Given the description of an element on the screen output the (x, y) to click on. 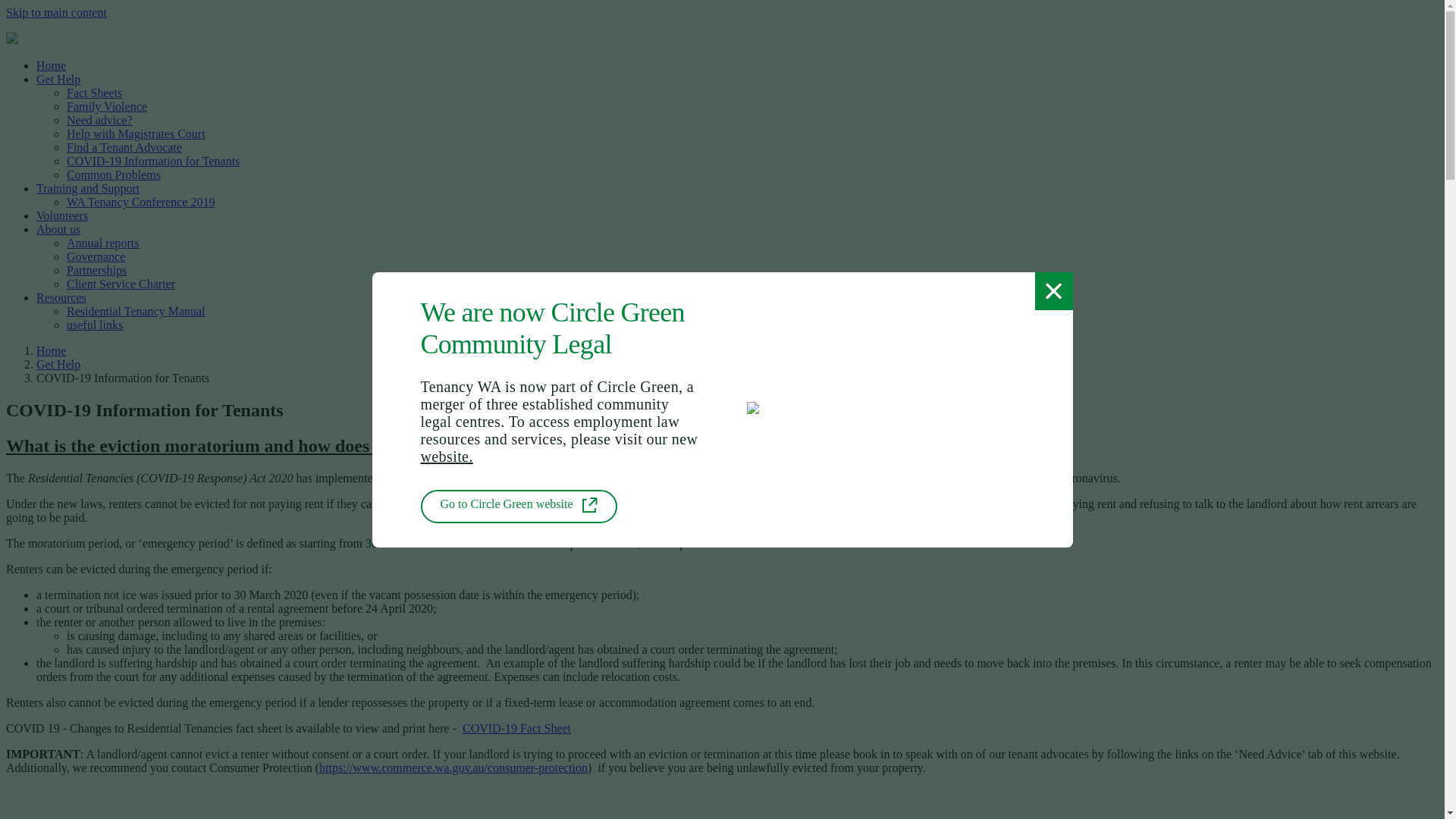
Residential Tenancy Manual Element type: text (135, 310)
Fact Sheets Element type: text (94, 92)
Skip to main content Element type: text (56, 12)
Find a Tenant Advocate Element type: text (124, 147)
Home Element type: text (50, 65)
Need advice? Element type: text (99, 119)
Volunteers Element type: text (61, 215)
Common Problems Element type: text (113, 174)
Get Help Element type: text (58, 78)
Annual reports Element type: text (102, 242)
About us Element type: text (58, 228)
website. Element type: text (446, 455)
Family Violence Element type: text (106, 106)
Training and Support Element type: text (87, 188)
Resources Element type: text (61, 297)
Home Element type: text (50, 350)
https://www.commerce.wa.gov.au/consumer-protection Element type: text (453, 767)
COVID-19 Fact Sheet Element type: text (516, 727)
COVID-19 Information for Tenants Element type: text (152, 160)
Get Help Element type: text (58, 363)
Help with Magistrates Court Element type: text (135, 133)
Client Service Charter Element type: text (120, 283)
WA Tenancy Conference 2019 Element type: text (140, 201)
six-month moratorium on evictions and other measures Element type: text (524, 477)
Go to Circle Green website Element type: text (518, 506)
Governance Element type: text (95, 256)
useful links Element type: text (94, 324)
Partnerships Element type: text (96, 269)
